Given the description of an element on the screen output the (x, y) to click on. 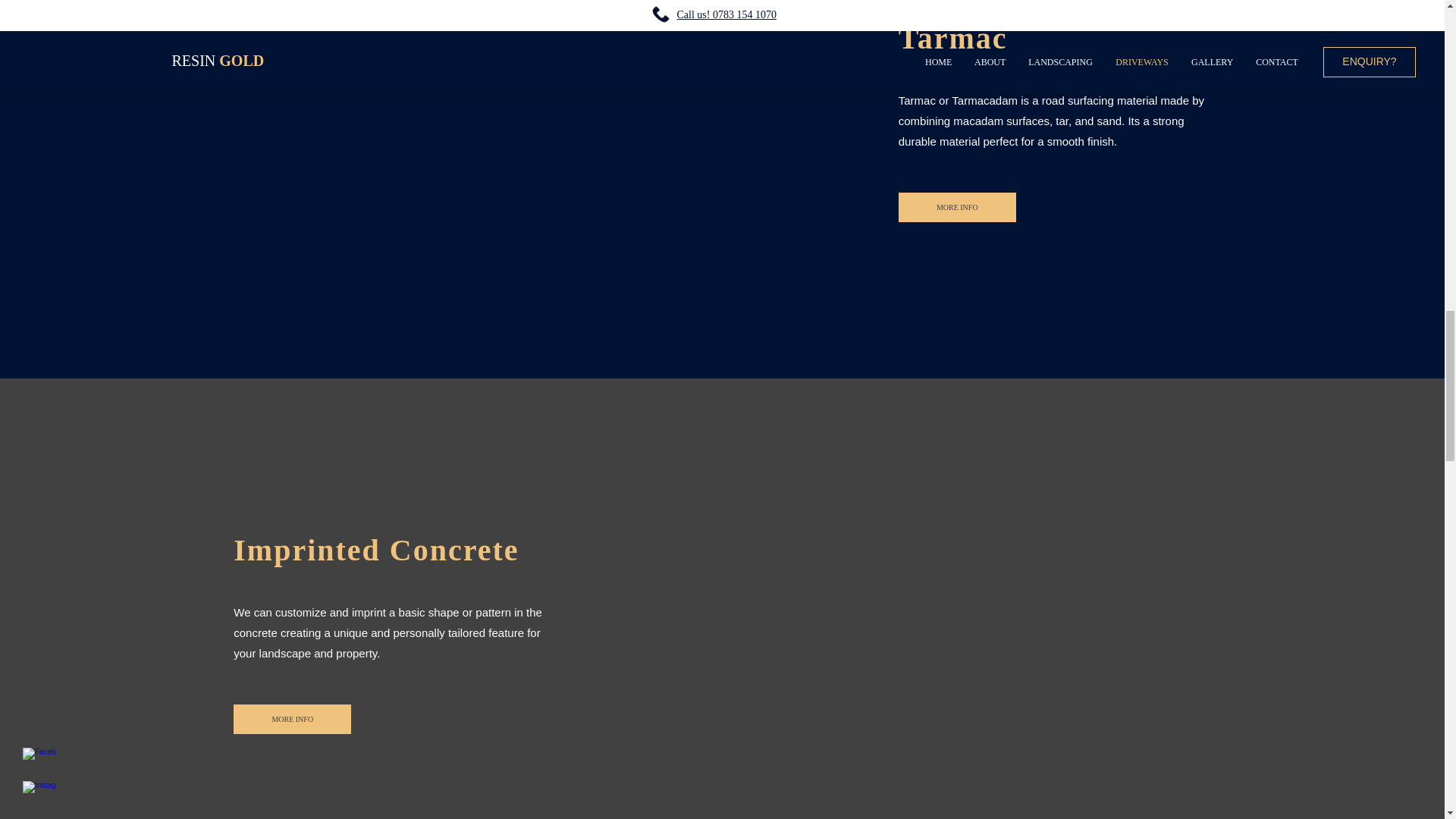
MORE INFO (291, 718)
MORE INFO (957, 206)
tar (1061, 120)
road surfacing (1077, 100)
macadam (978, 120)
